Given the description of an element on the screen output the (x, y) to click on. 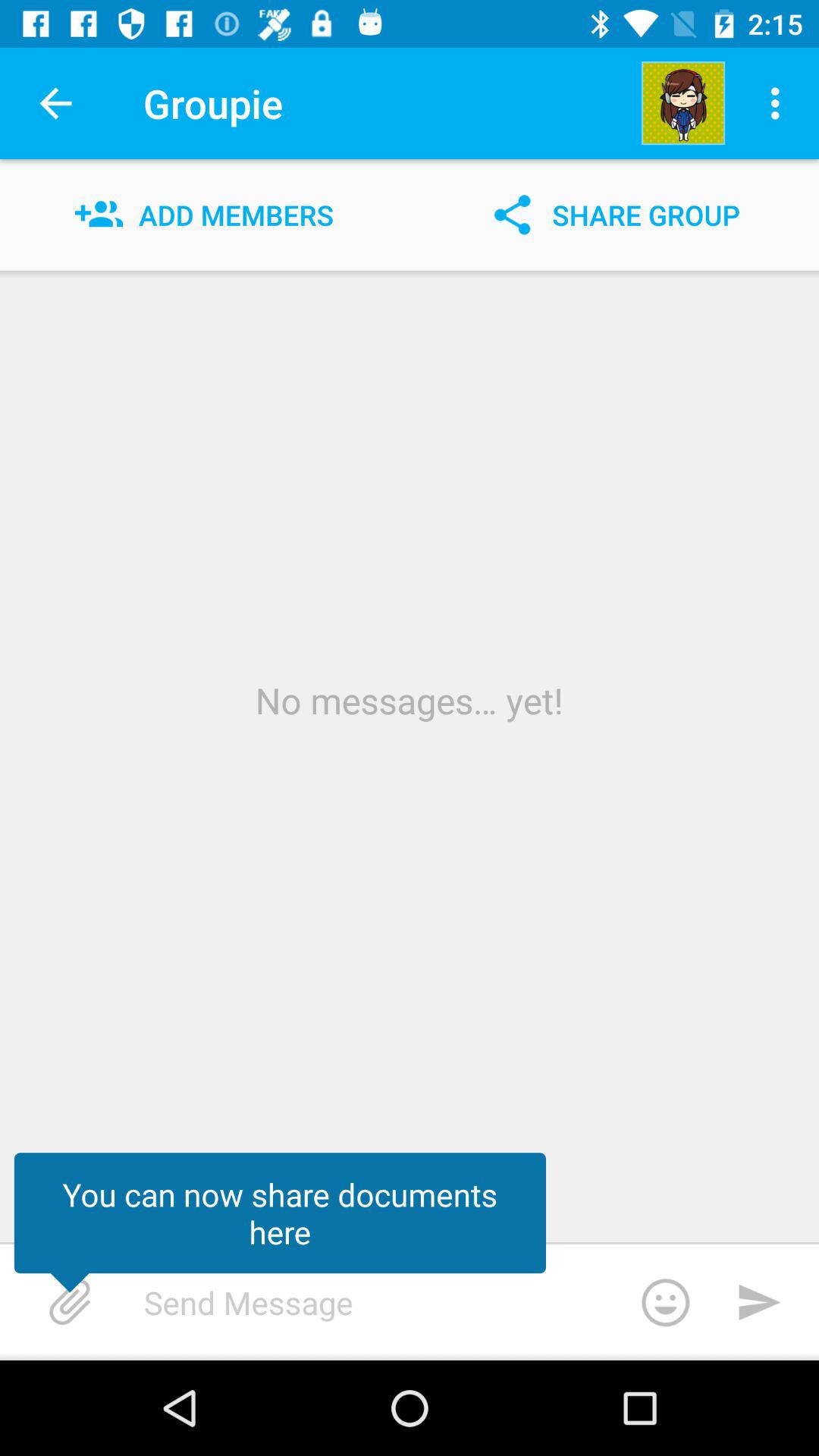
enter text button (428, 1302)
